Given the description of an element on the screen output the (x, y) to click on. 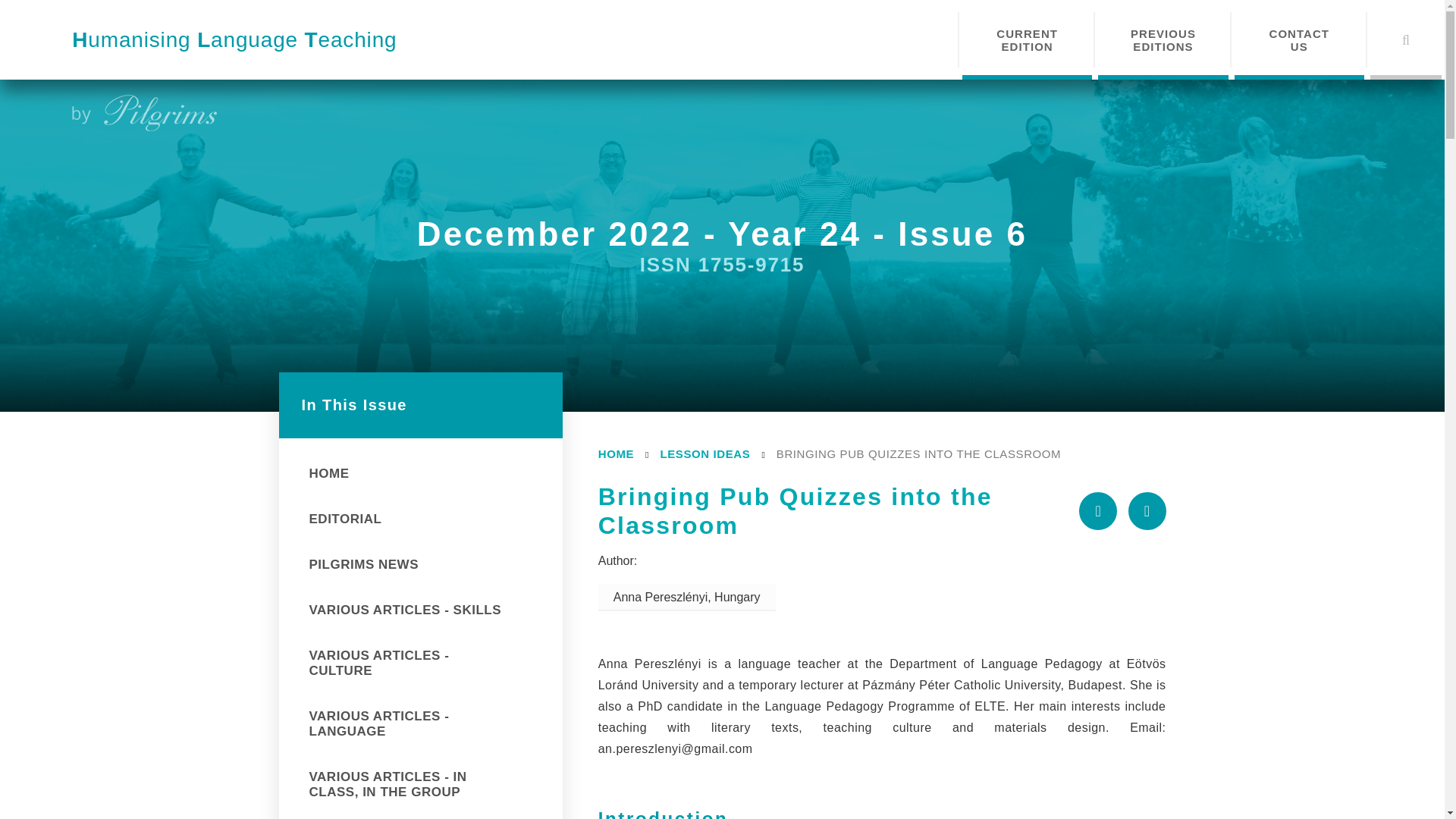
HOME (424, 473)
PILGRIMS NEWS (424, 564)
BRINGING PUB QUIZZES INTO THE CLASSROOM (918, 453)
EDITORIAL (424, 518)
PREVIOUS EDITIONS (1162, 39)
Humanising Language Teaching (233, 39)
HOME (615, 453)
VARIOUS ARTICLES - CULTURE (424, 663)
LESSON IDEAS (704, 453)
CONTACT US (1299, 39)
VARIOUS ARTICLES - SKILLS (424, 609)
VARIOUS ARTICLES - LANGUAGE (424, 724)
CURRENT EDITION (1026, 39)
